Given the description of an element on the screen output the (x, y) to click on. 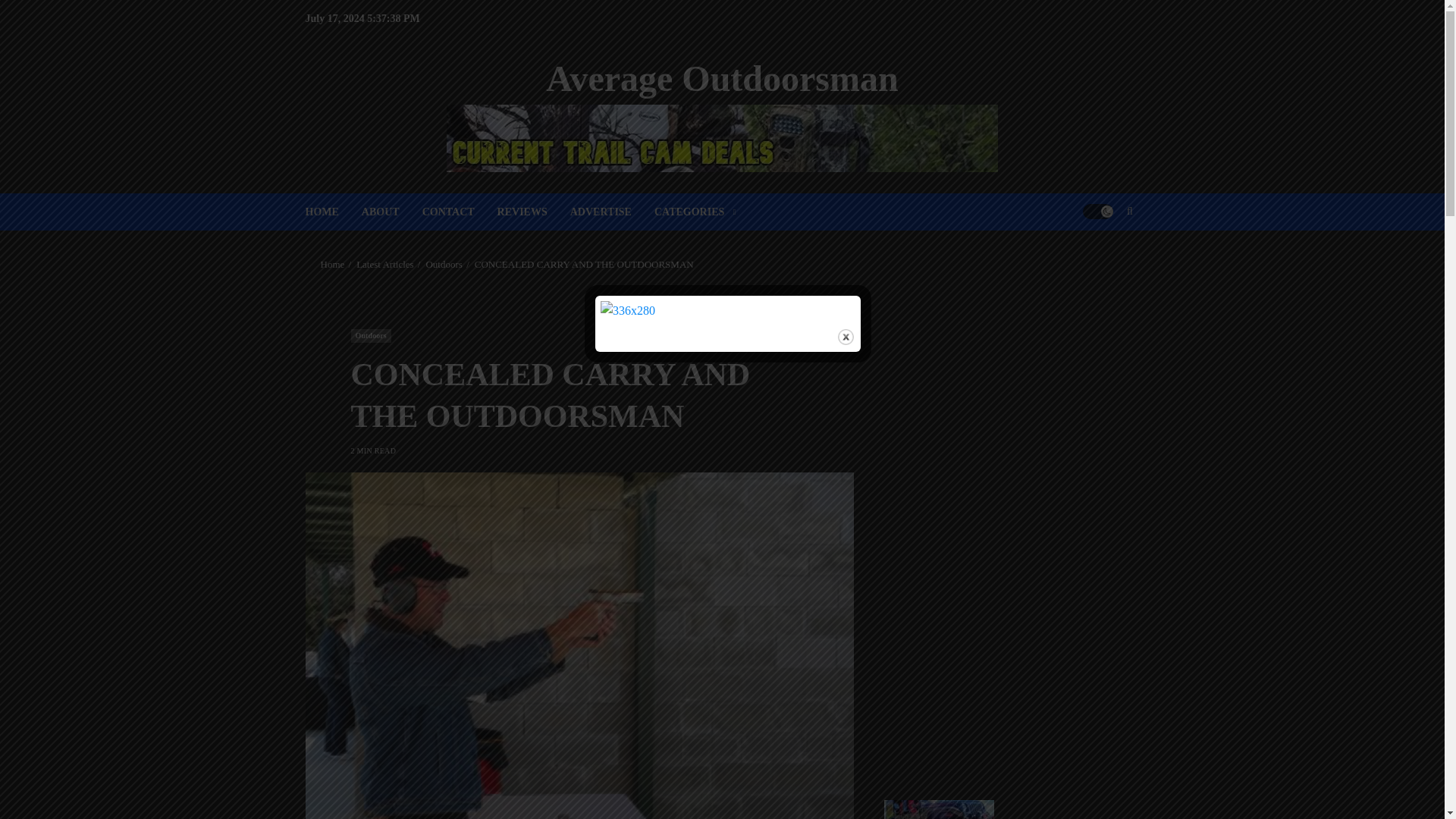
Average Outdoorsman (722, 78)
CONCEALED CARRY AND THE OUTDOORSMAN (584, 264)
Search (1099, 257)
Outdoors (443, 264)
Home (331, 264)
REVIEWS (533, 211)
CONTACT (459, 211)
Latest Articles (384, 264)
HOME (332, 211)
Advertisement (1003, 408)
Outdoors (370, 336)
CATEGORIES (694, 211)
ABOUT (391, 211)
ADVERTISE (611, 211)
Close (845, 336)
